Given the description of an element on the screen output the (x, y) to click on. 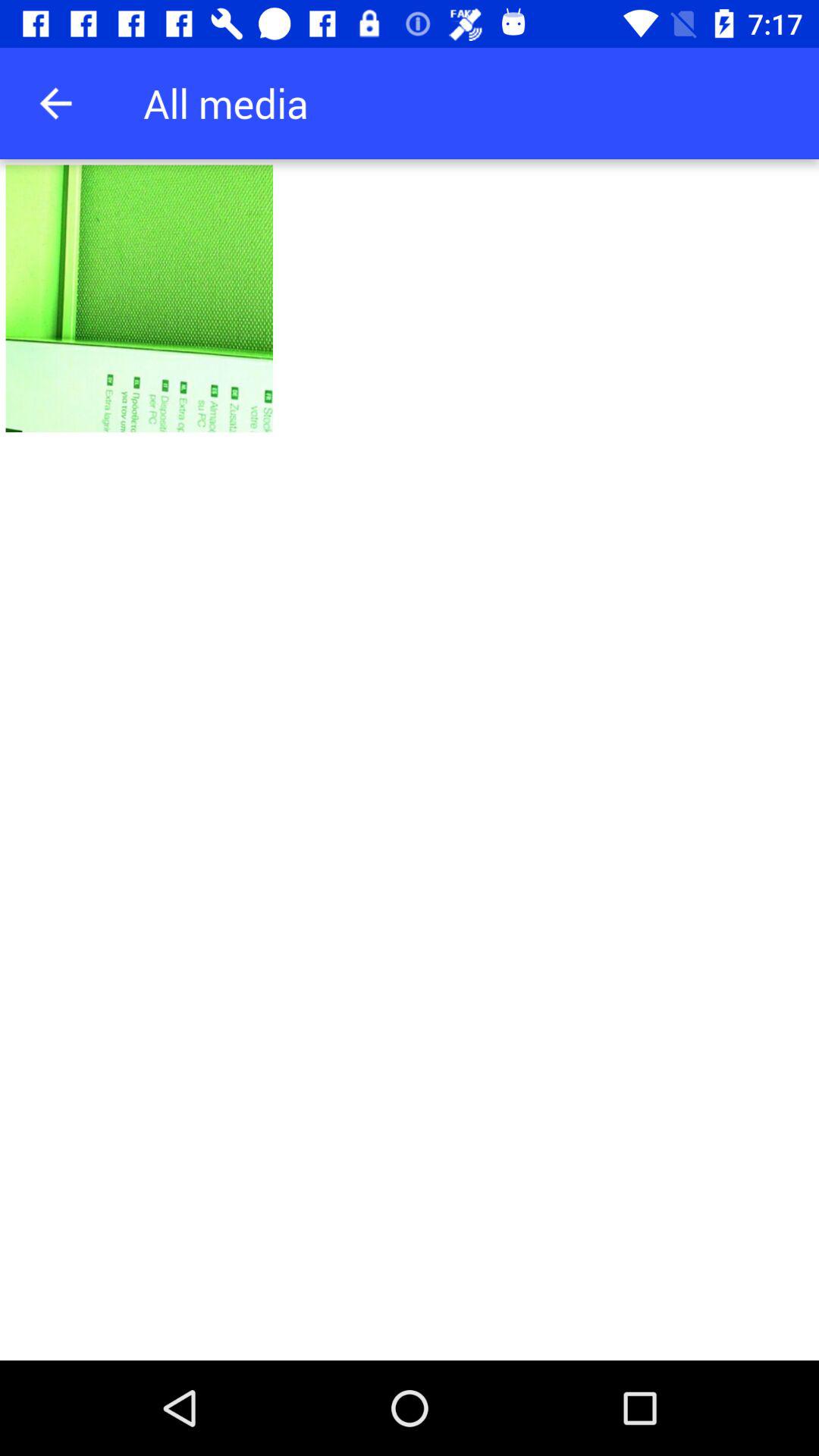
go to previous (55, 103)
